Given the description of an element on the screen output the (x, y) to click on. 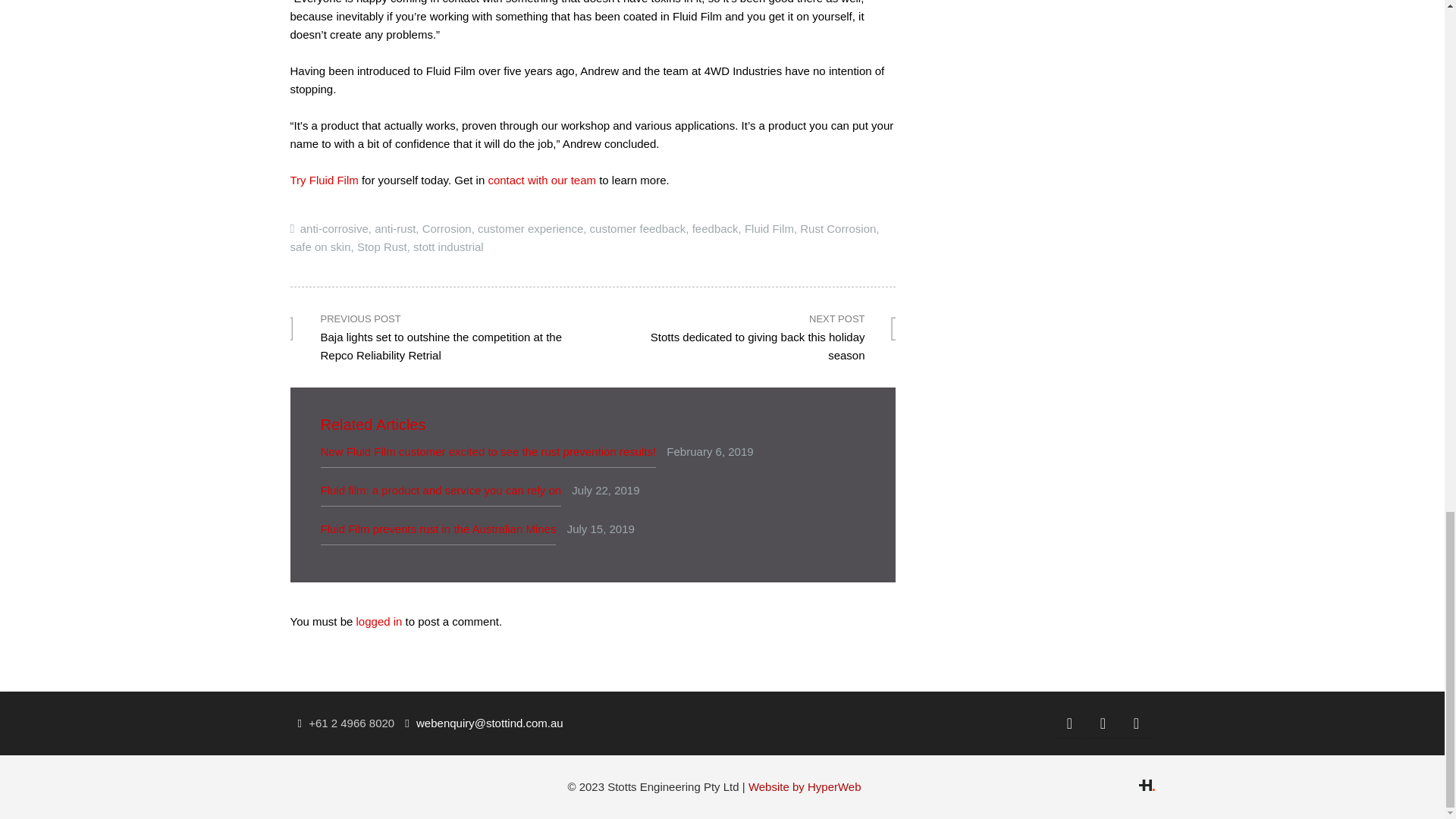
Fluid Film prevents rust in the Australian Mines (438, 528)
Corrosion (446, 228)
customer experience (530, 228)
Stop Rust (381, 246)
Fluid Film (768, 228)
Fluid film: a product and service you can rely on (440, 490)
stott industrial (448, 246)
contact with our team (541, 179)
customer feedback (637, 228)
